Given the description of an element on the screen output the (x, y) to click on. 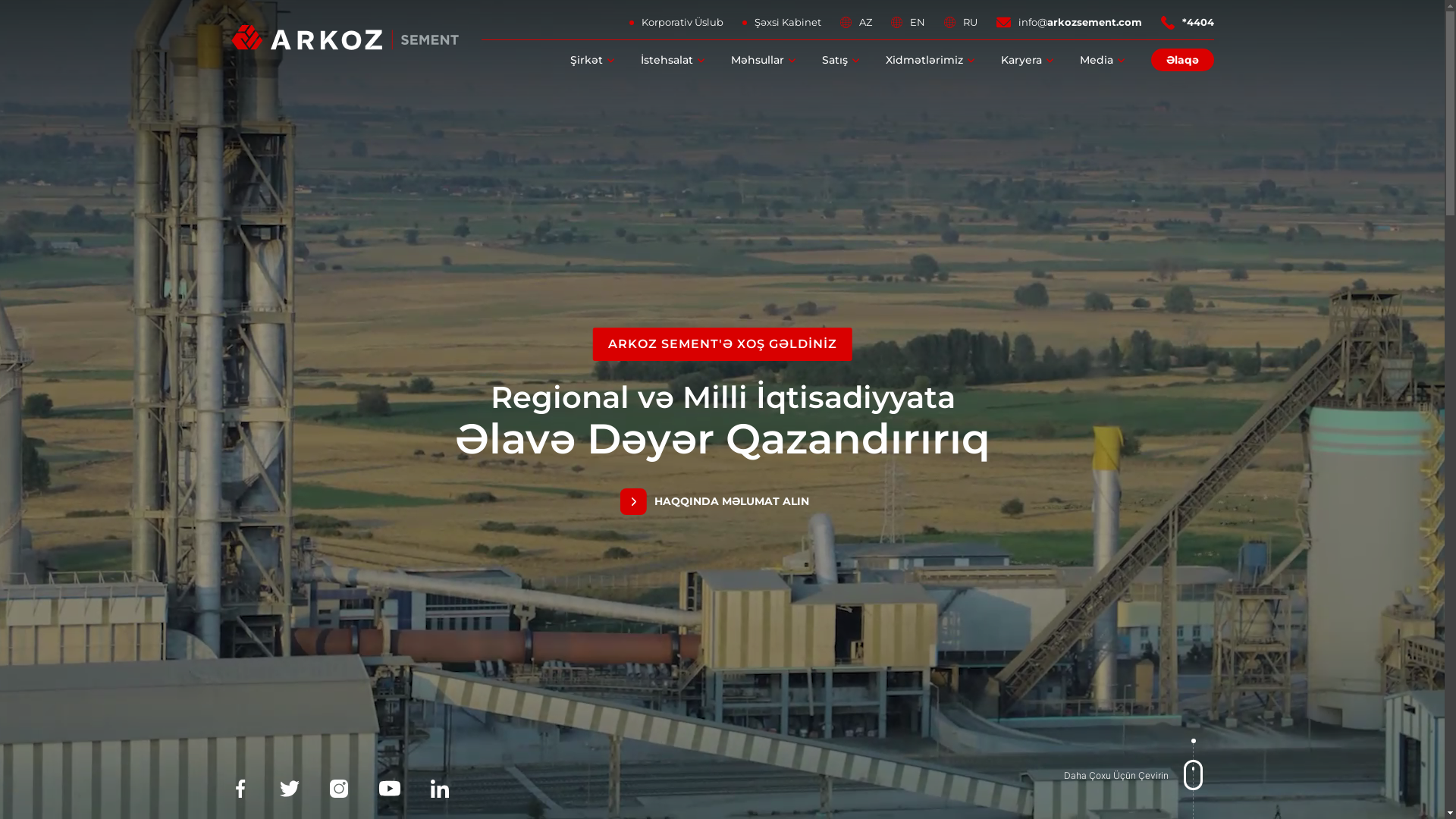
Media Element type: text (1096, 59)
EN Element type: text (908, 22)
*4404 Element type: text (1187, 22)
AZ Element type: text (856, 22)
Karyera Element type: text (1021, 59)
info@
arkozsement.com Element type: text (1069, 22)
RU Element type: text (960, 22)
